Given the description of an element on the screen output the (x, y) to click on. 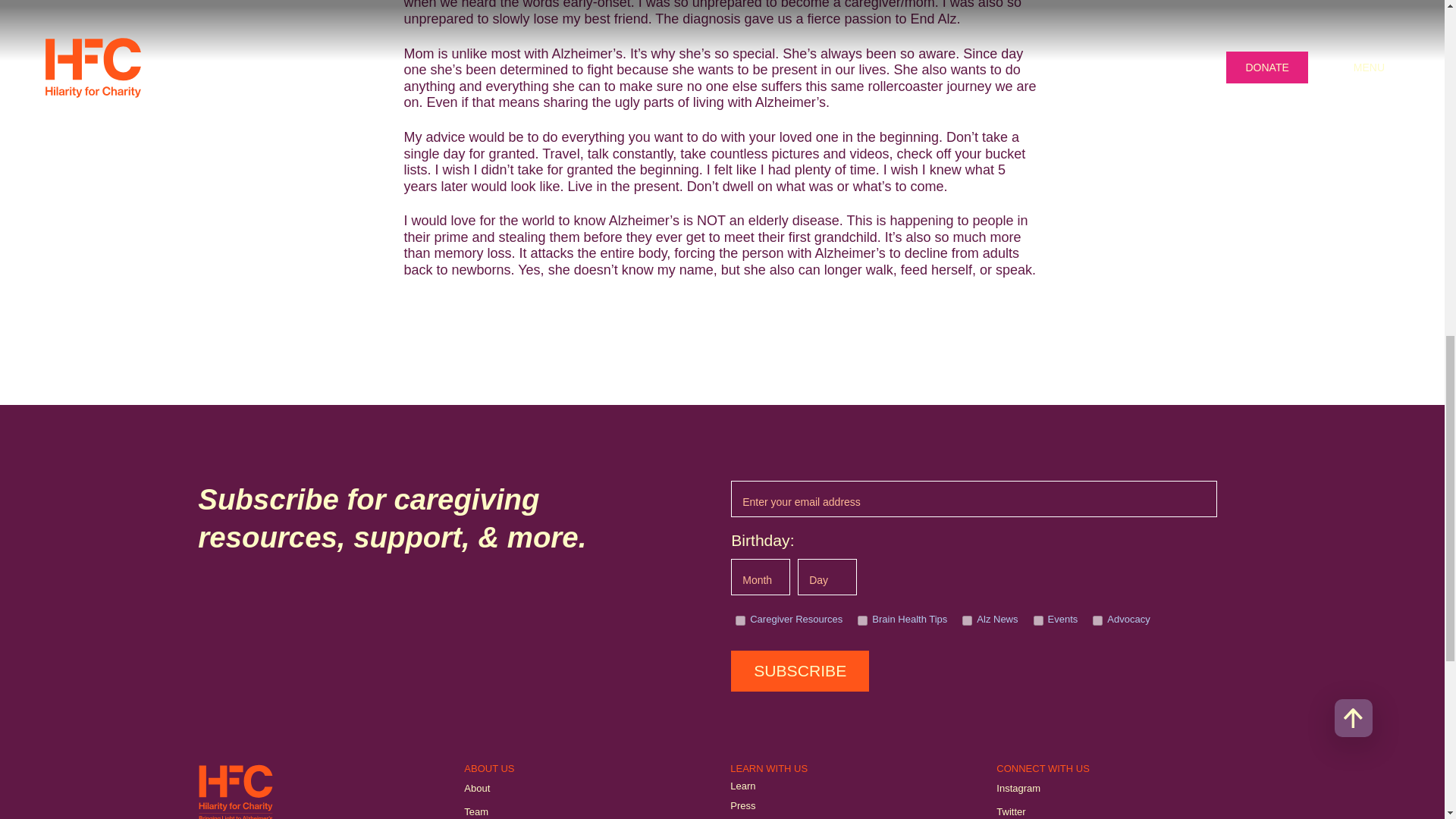
on (740, 620)
Team (475, 811)
Twitter (1010, 811)
on (1097, 620)
Press (742, 806)
Instagram (1018, 788)
on (967, 620)
SUBSCRIBE (799, 670)
About (476, 788)
on (862, 620)
Learn (742, 786)
on (1038, 620)
SUBSCRIBE (799, 670)
